Given the description of an element on the screen output the (x, y) to click on. 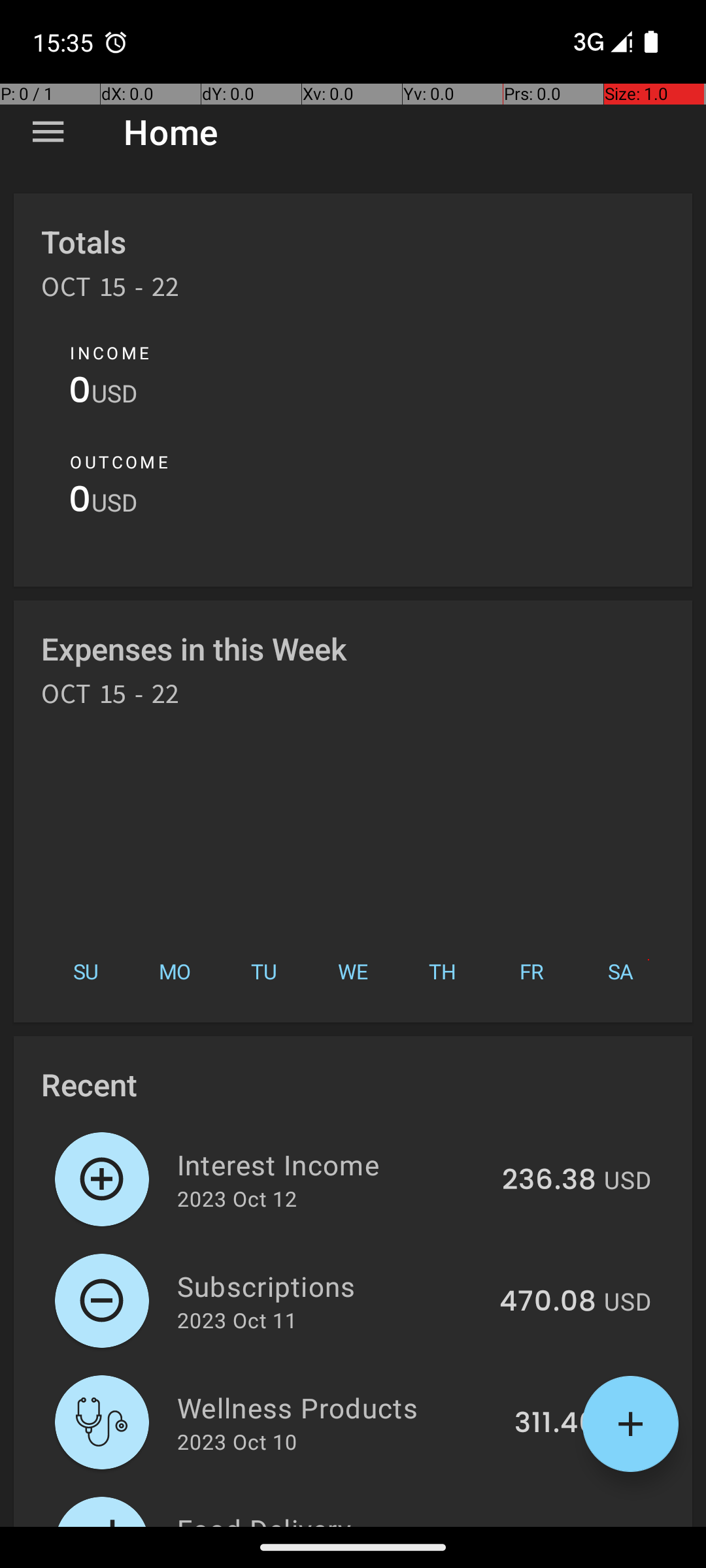
Interest Income Element type: android.widget.TextView (331, 1164)
236.38 Element type: android.widget.TextView (548, 1180)
470.08 Element type: android.widget.TextView (547, 1301)
311.46 Element type: android.widget.TextView (554, 1423)
Food Delivery Element type: android.widget.TextView (334, 1518)
298.51 Element type: android.widget.TextView (551, 1524)
